Given the description of an element on the screen output the (x, y) to click on. 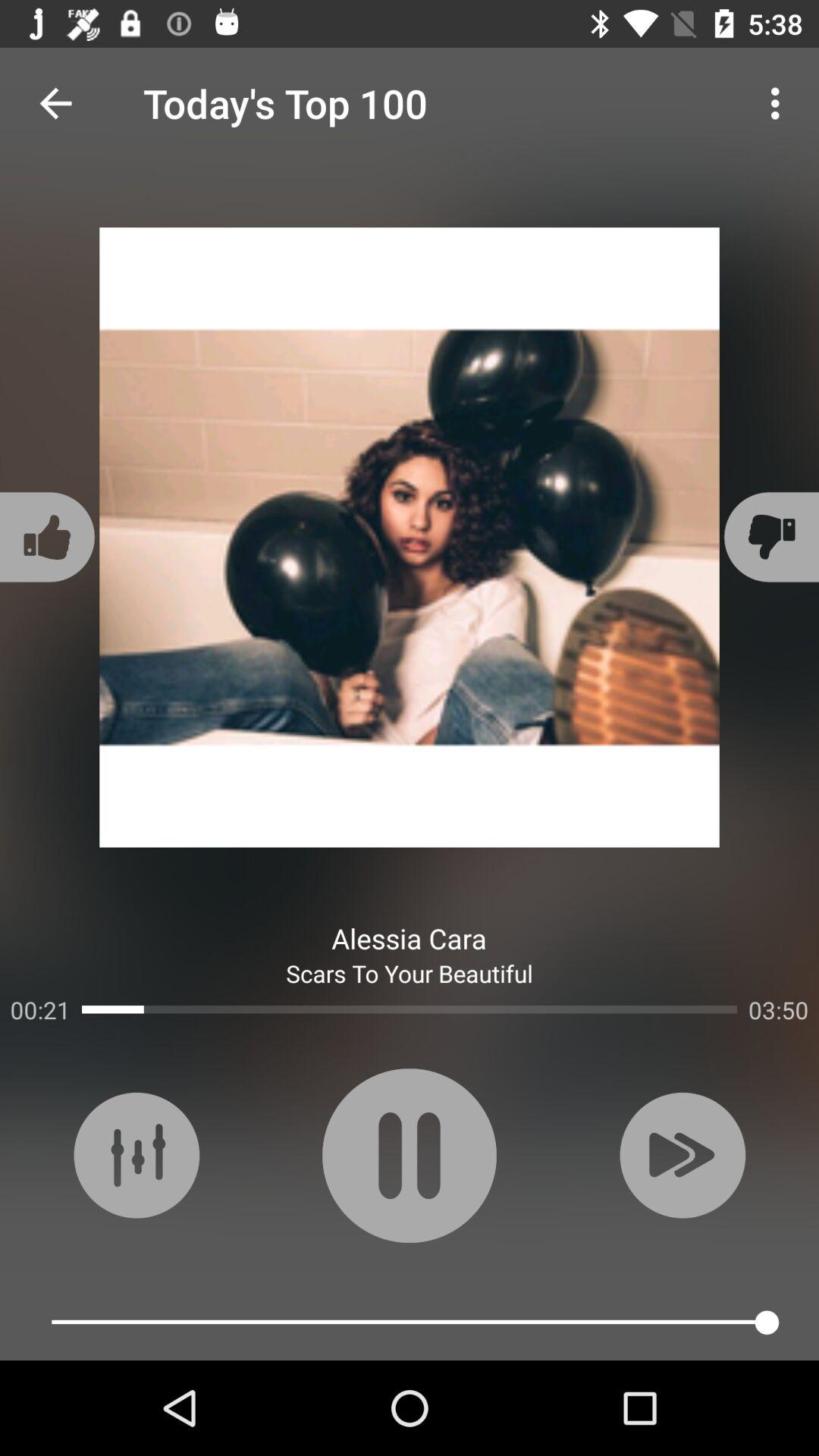
choose item above the 00:21 item (49, 536)
